Given the description of an element on the screen output the (x, y) to click on. 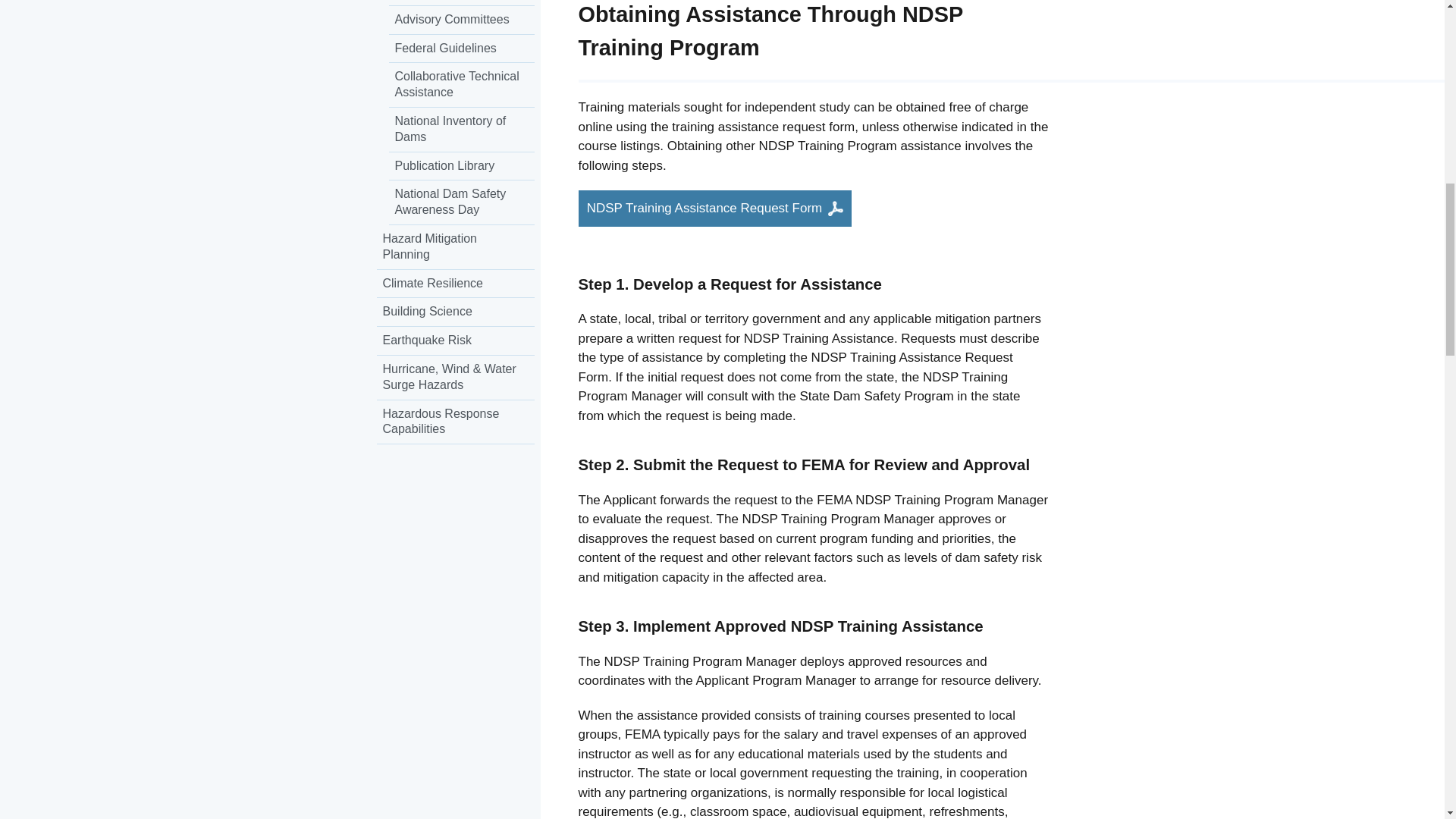
National Dam Safety Awareness Day (461, 202)
National Inventory of Dams (461, 129)
Collaborative Technical Assistance (461, 85)
Hazard Mitigation Planning (454, 247)
Earthquake Risk (454, 340)
Hazardous Response Capabilities (454, 422)
Grant Assistance to States (461, 2)
Publication Library (461, 166)
Climate Resilience (454, 284)
Federal Guidelines (461, 49)
Building Science (454, 312)
Advisory Committees (461, 20)
